Given the description of an element on the screen output the (x, y) to click on. 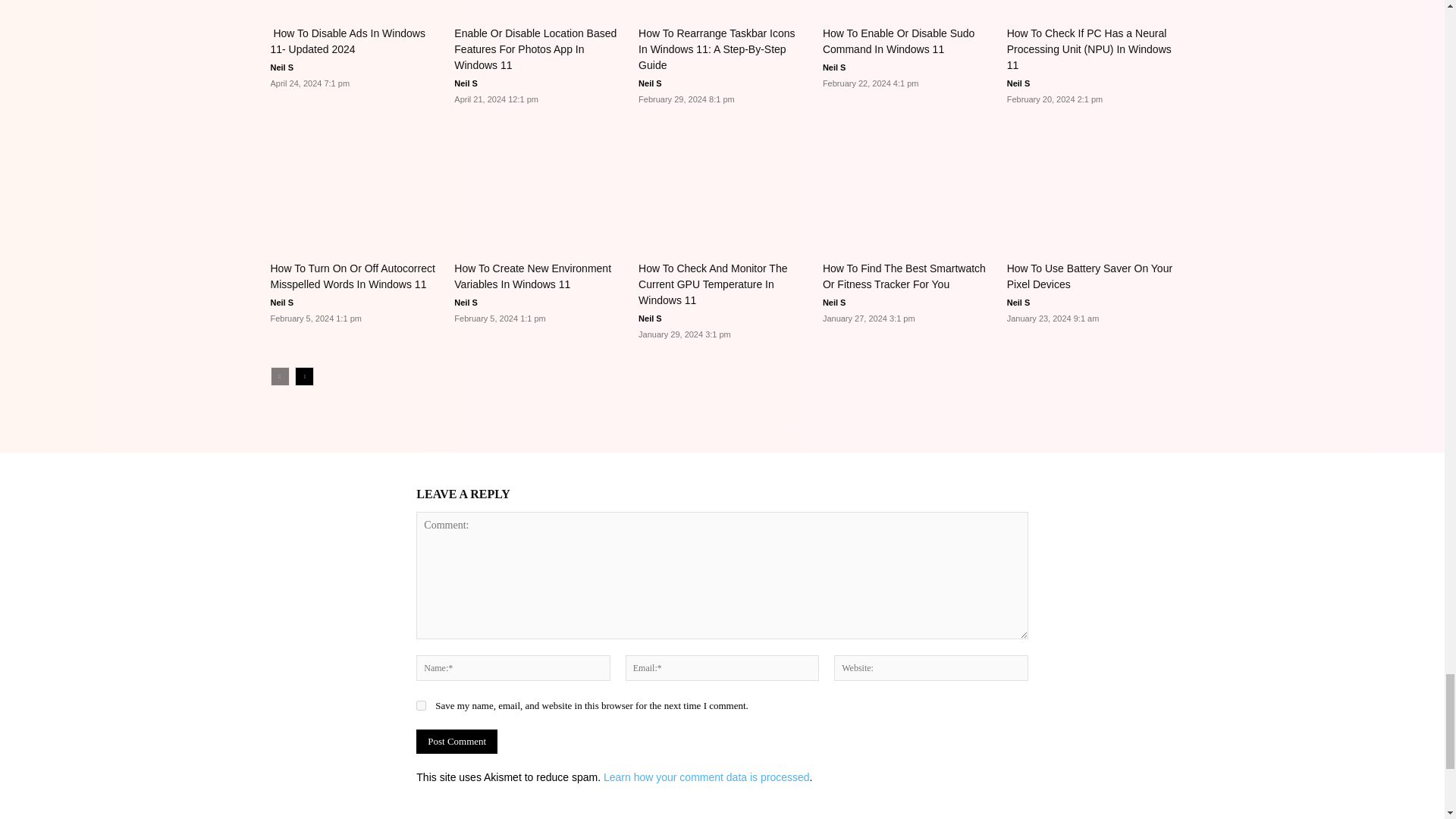
yes (421, 705)
Post Comment (456, 741)
